Given the description of an element on the screen output the (x, y) to click on. 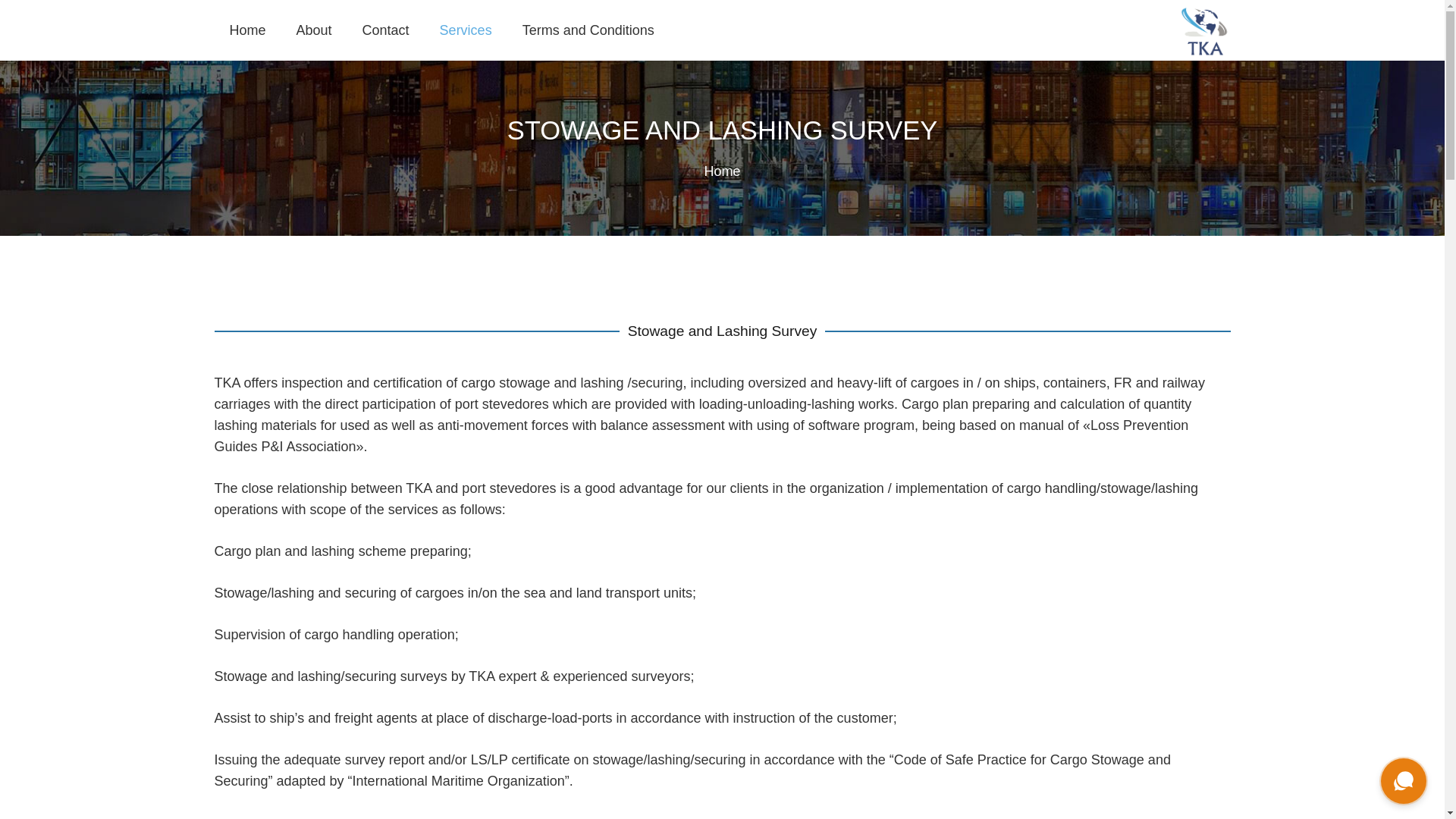
Services (465, 30)
Terms and Conditions (587, 30)
Home (247, 30)
About (314, 30)
Home (721, 171)
Contact (386, 30)
